Given the description of an element on the screen output the (x, y) to click on. 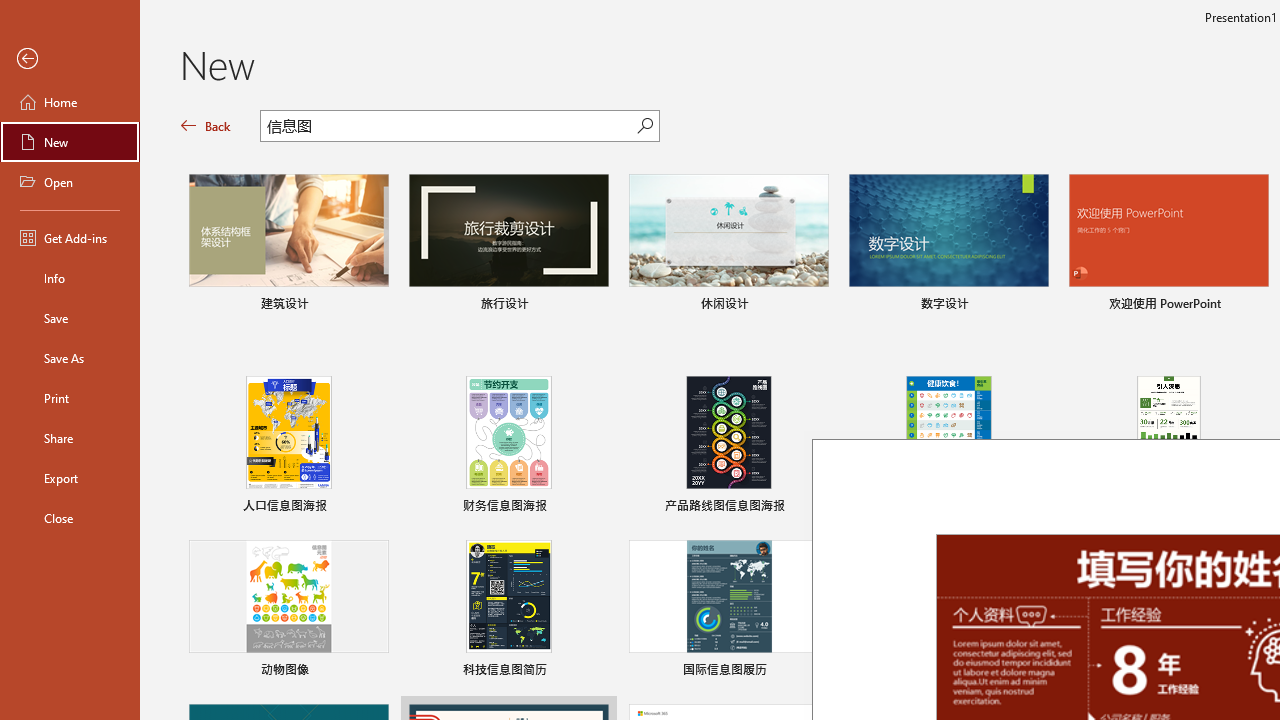
Info (69, 277)
New (69, 141)
Save As (69, 357)
Start searching (645, 125)
Print (69, 398)
